Given the description of an element on the screen output the (x, y) to click on. 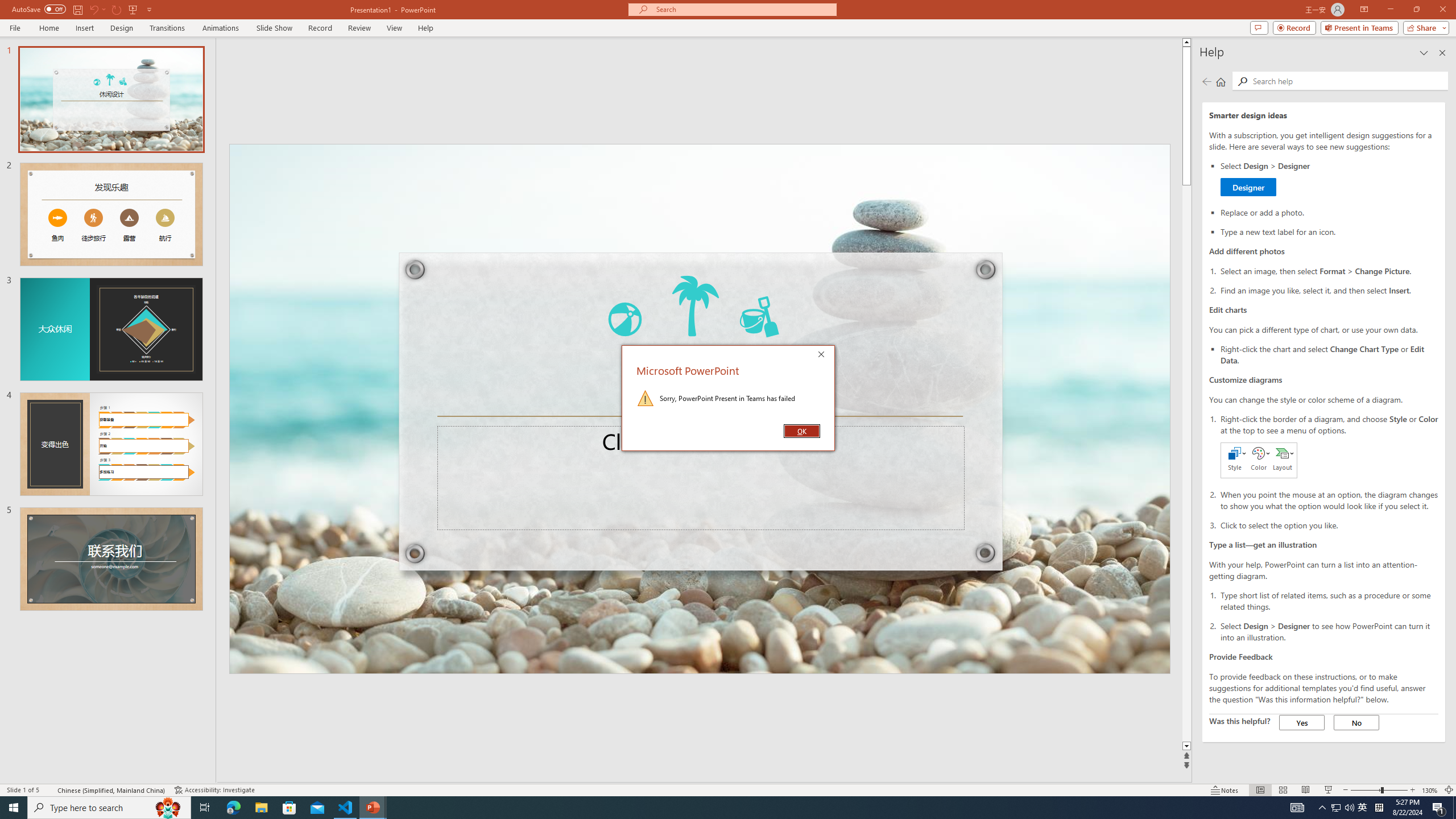
Warning Icon (645, 398)
Replace or add a photo. (1329, 211)
